Given the description of an element on the screen output the (x, y) to click on. 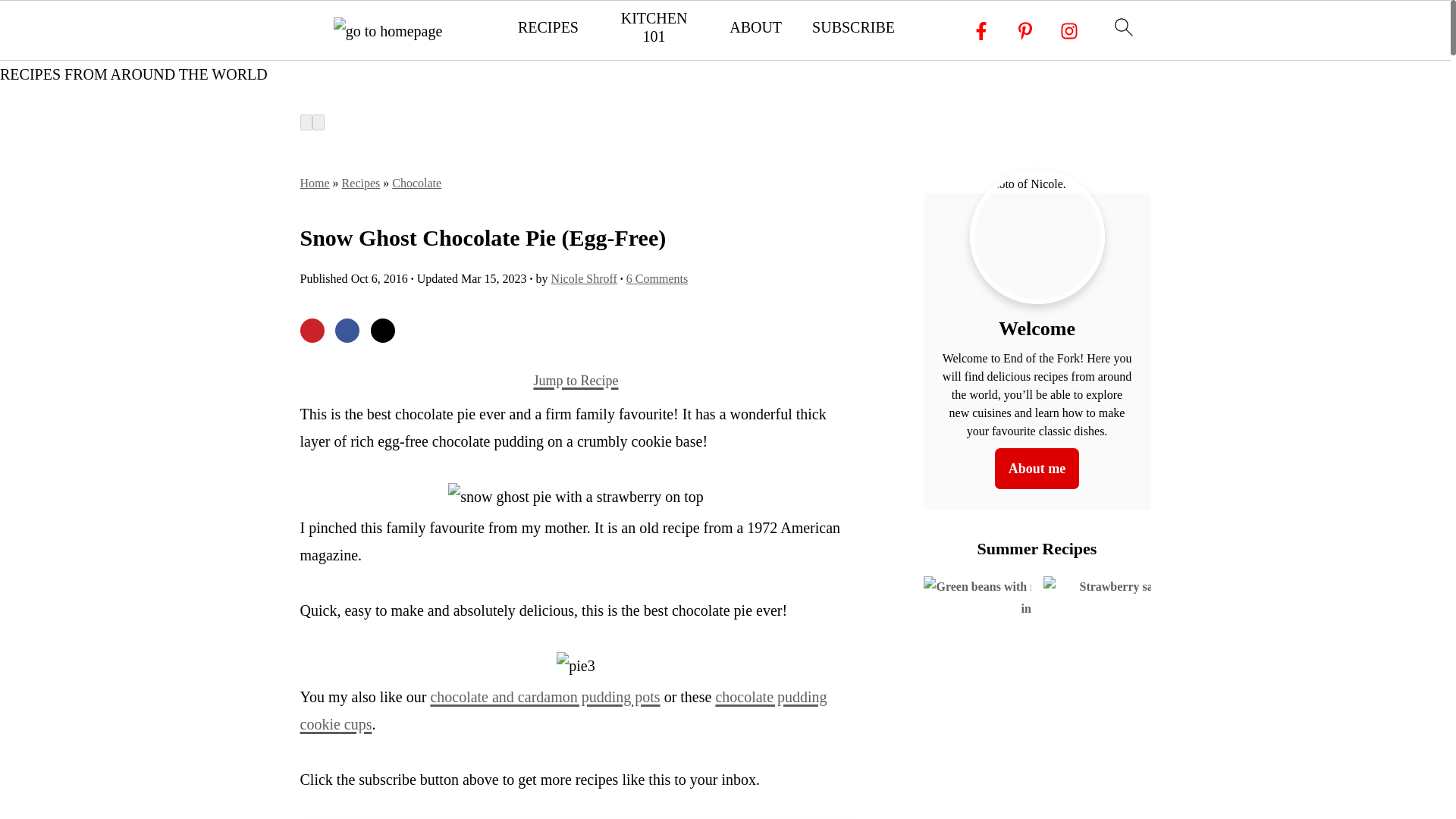
chocolate pudding cookie cups (563, 710)
search icon (1122, 26)
Nicole Shroff (584, 278)
Save to Pinterest (311, 330)
Recipes (361, 182)
chocolate and cardamon pudding pots (544, 696)
Jump to Recipe (576, 380)
Share on X (382, 330)
SUBSCRIBE (853, 27)
Home (314, 182)
